Given the description of an element on the screen output the (x, y) to click on. 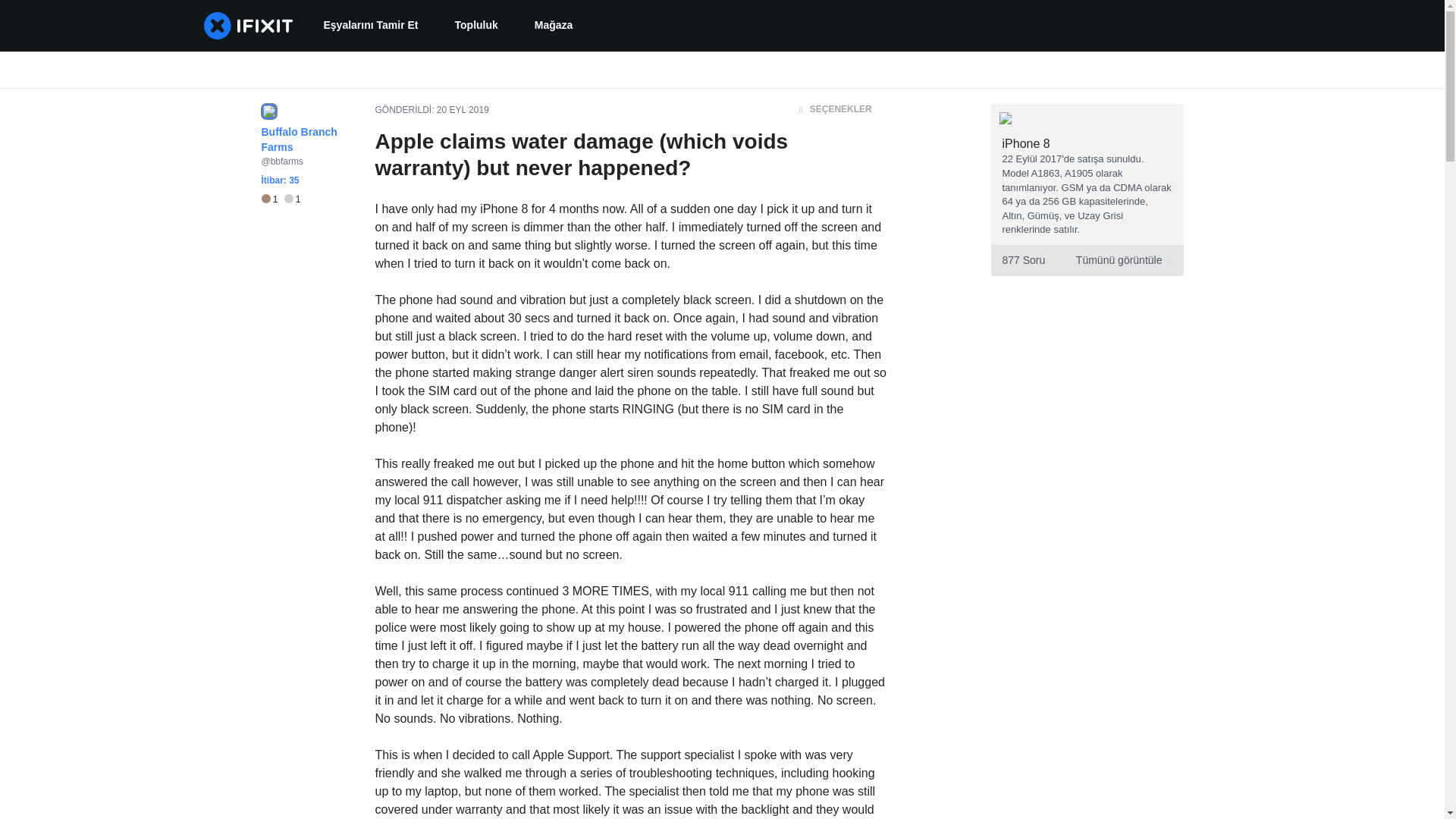
iPhone 8 (1026, 143)
Fri, 20 Sep 2019 01:00:56 -0700 (462, 109)
Topluluk (476, 25)
1 Bronz rozeti (271, 199)
1 1 (279, 199)
